Given the description of an element on the screen output the (x, y) to click on. 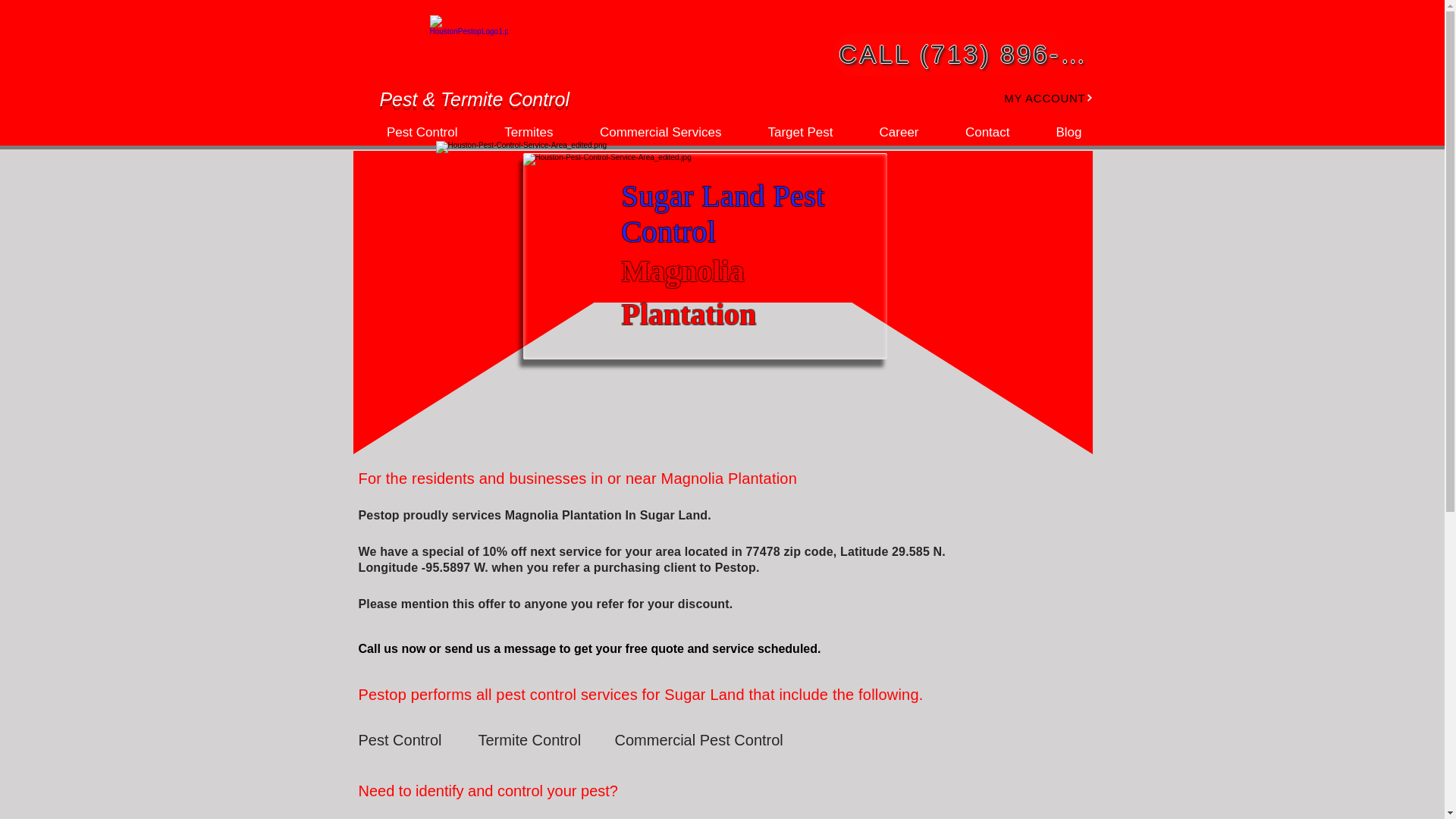
Commercial Services (648, 131)
MY ACCOUNT (1033, 97)
Pest Control (411, 739)
Career (887, 131)
Commercial Pest Control (698, 739)
Pest Control (409, 131)
Need to identify and control your pest? (496, 790)
Termites (516, 131)
Contact (975, 131)
Target Pest (788, 131)
